Given the description of an element on the screen output the (x, y) to click on. 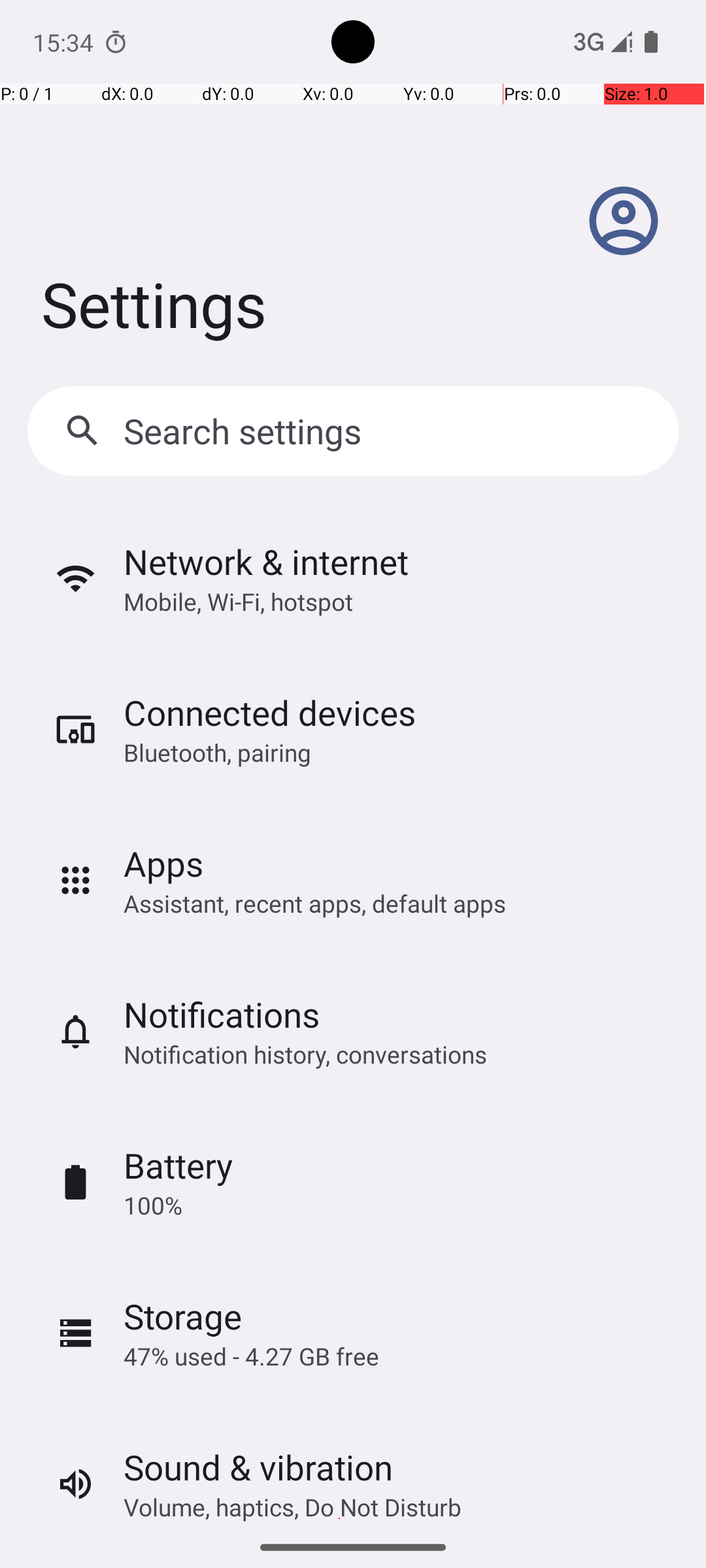
47% used - 4.27 GB free Element type: android.widget.TextView (251, 1355)
